Given the description of an element on the screen output the (x, y) to click on. 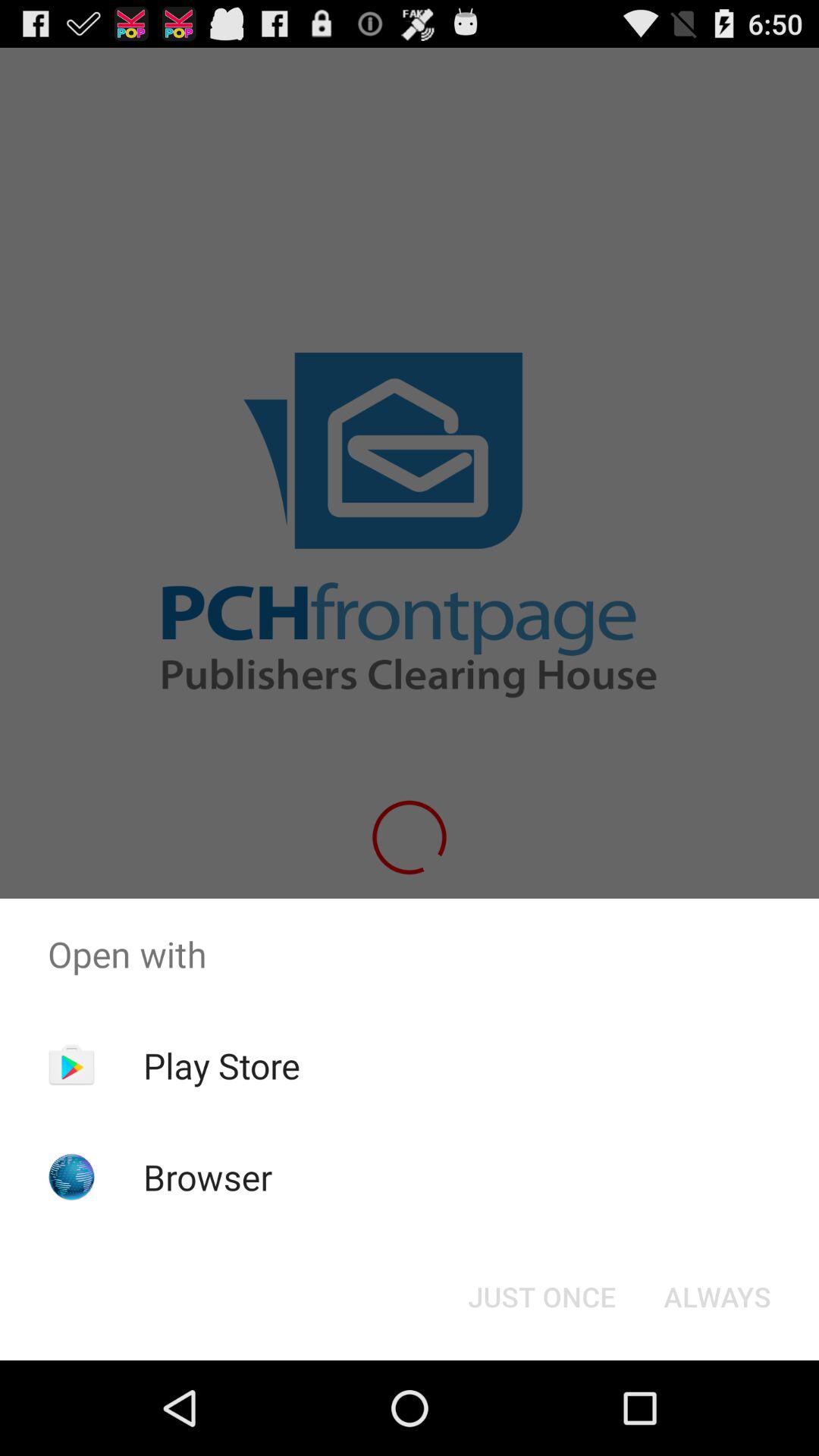
tap the app above the browser item (221, 1065)
